Given the description of an element on the screen output the (x, y) to click on. 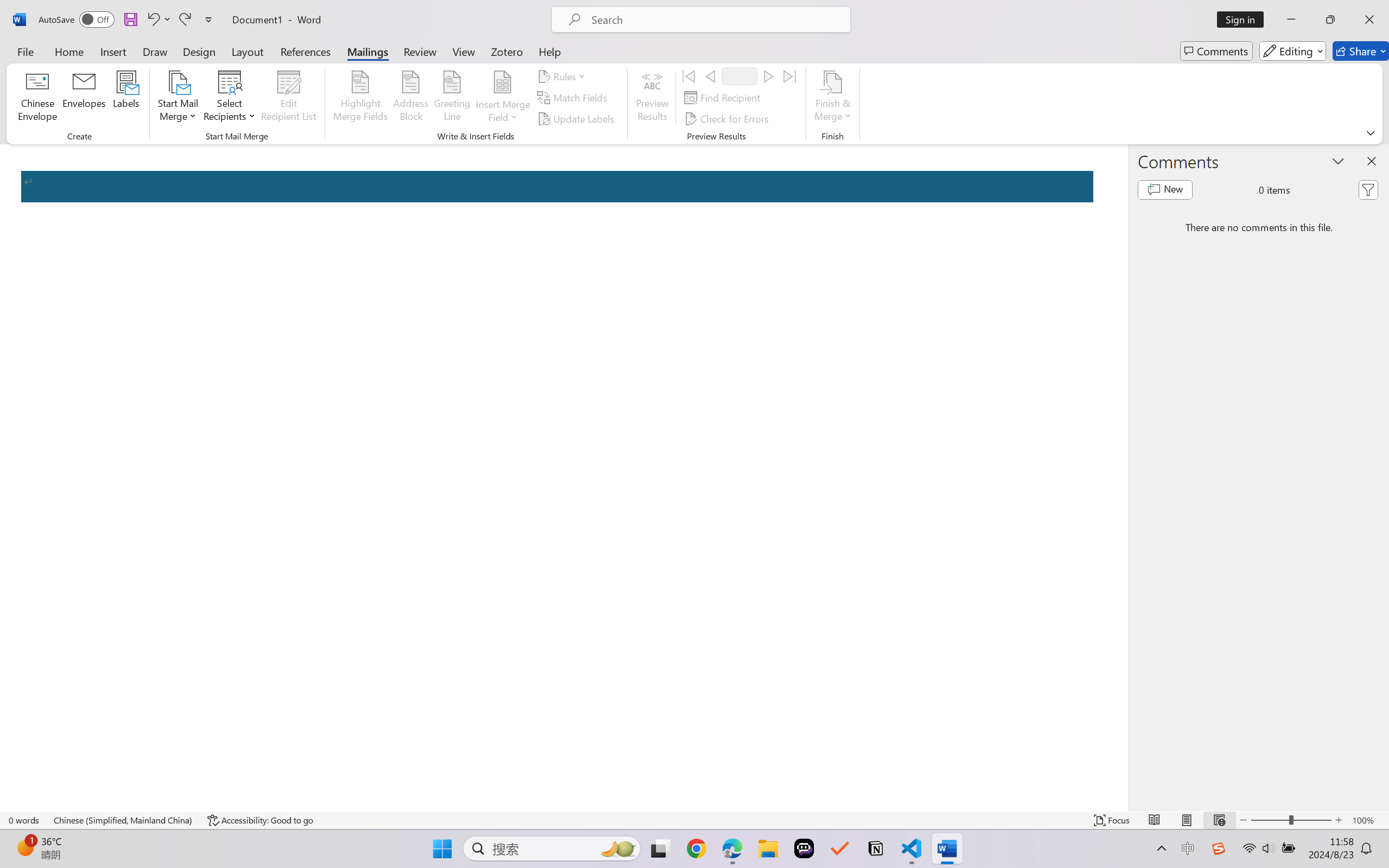
Select Recipients (229, 97)
Match Fields... (573, 97)
Rules (563, 75)
Insert Merge Field (502, 97)
Update Labels (576, 118)
Last (790, 75)
